Given the description of an element on the screen output the (x, y) to click on. 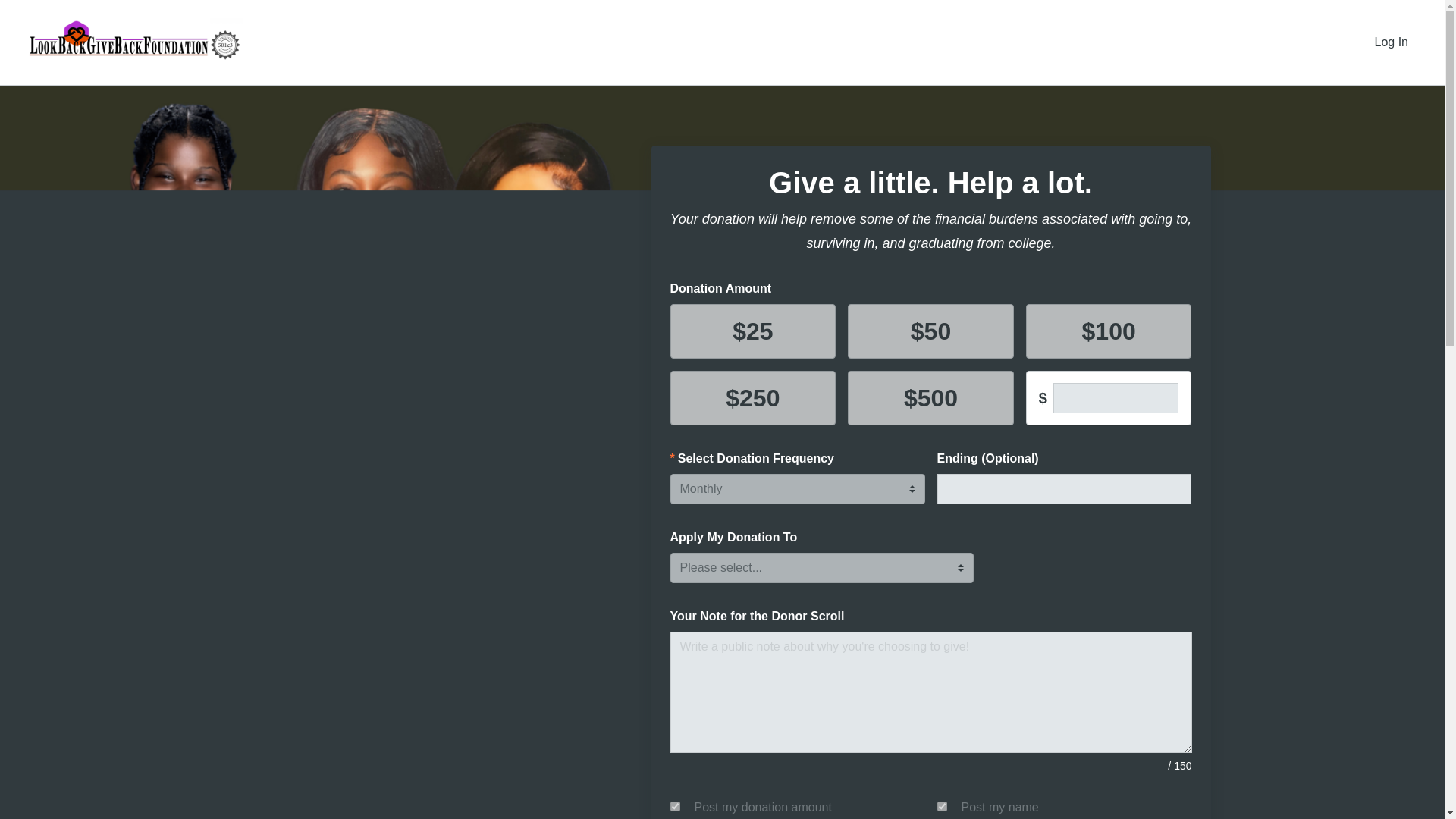
1 (674, 806)
Custom Donation Amount (1115, 398)
Log In (1391, 42)
1 (942, 806)
